Given the description of an element on the screen output the (x, y) to click on. 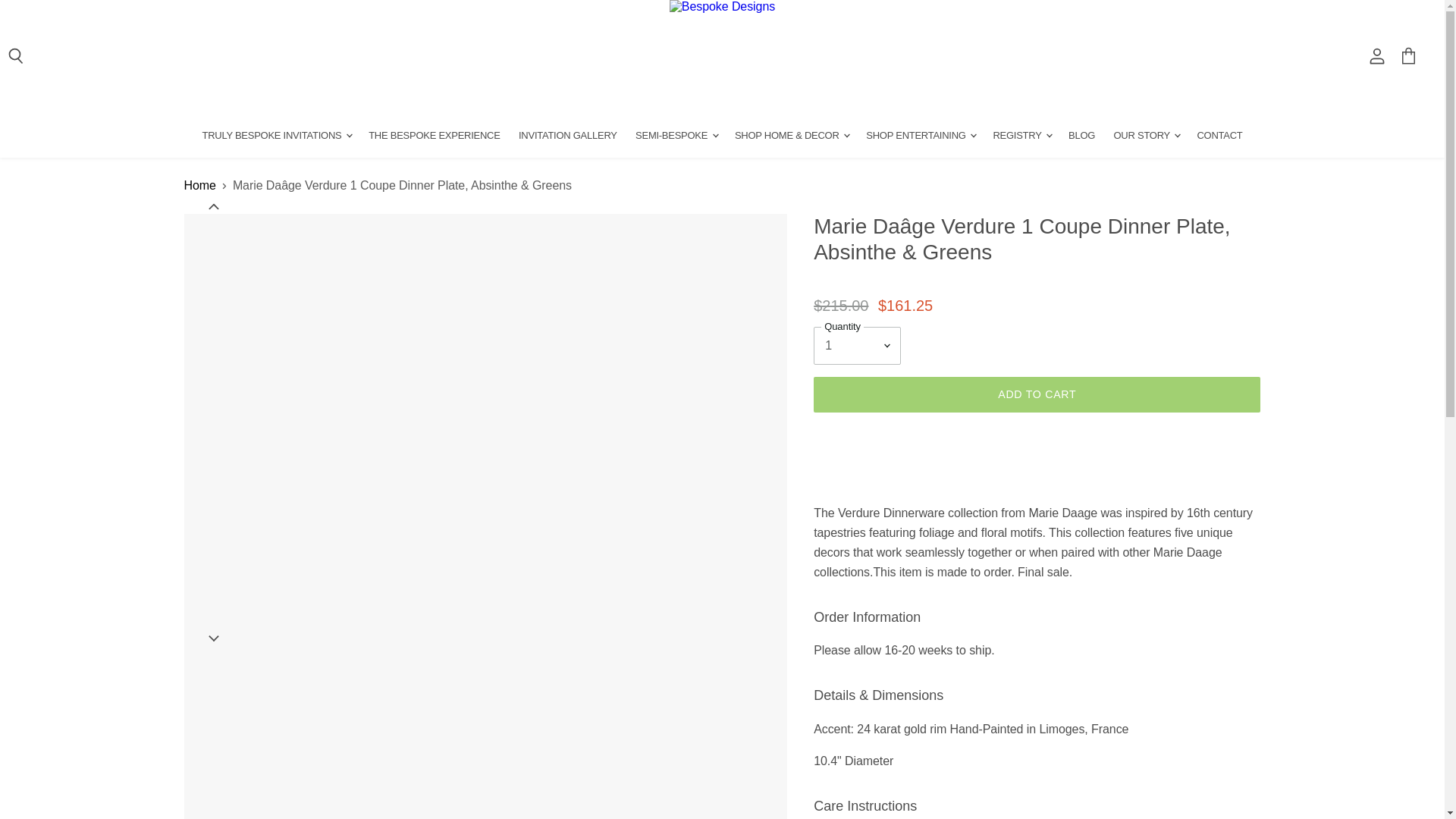
TRULY BESPOKE INVITATIONS (274, 135)
Chevron down icon (213, 638)
Search (16, 56)
THE BESPOKE EXPERIENCE (433, 135)
View account (1376, 56)
Chevron down icon (213, 206)
INVITATION GALLERY (567, 135)
SEMI-BESPOKE (675, 135)
